Given the description of an element on the screen output the (x, y) to click on. 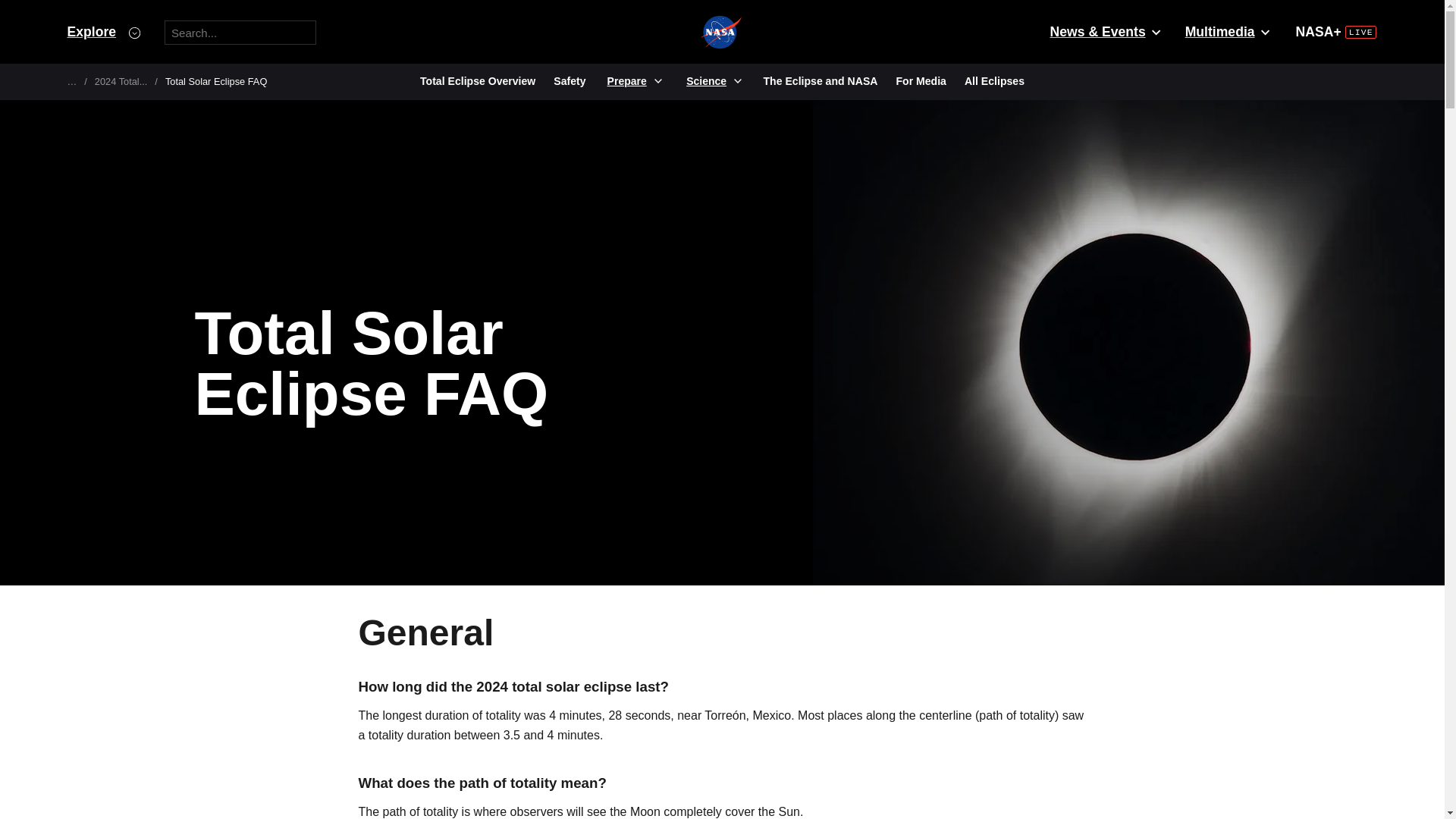
2024 Total Eclipse (121, 81)
